Given the description of an element on the screen output the (x, y) to click on. 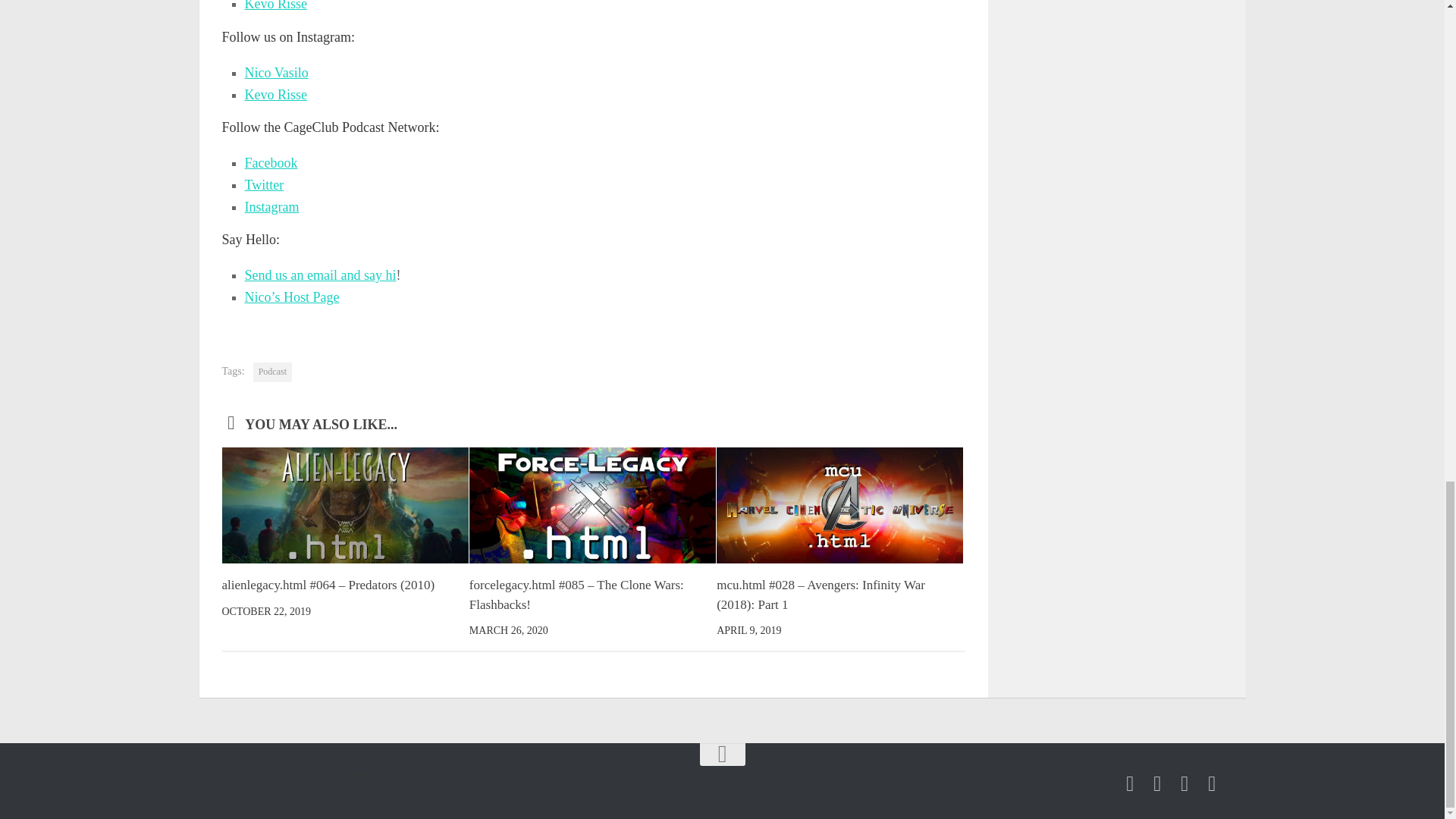
CageClub Podcast Network on Facebook (1129, 783)
CageClub Podcast Network on Twitter (1157, 783)
Follow us on Instagram (1184, 783)
